Given the description of an element on the screen output the (x, y) to click on. 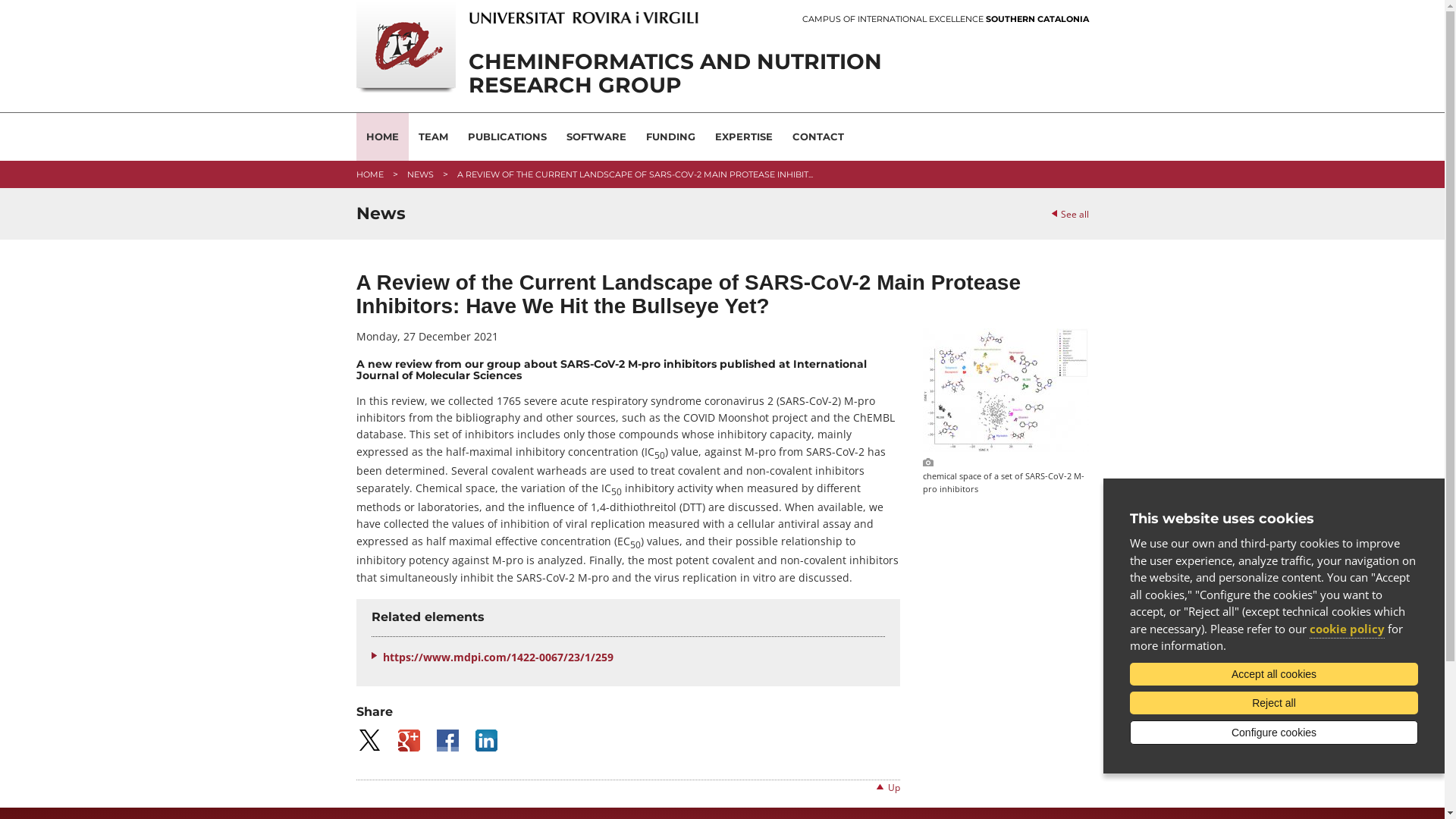
https://www.mdpi.com/1422-0067/23/1/259 Element type: text (633, 657)
FUNDING Element type: text (669, 136)
Reject all Element type: text (1273, 702)
See all Element type: text (1069, 213)
SOFTWARE Element type: text (596, 136)
CHEMINFORMATICS AND NUTRITION RESEARCH GROUP Element type: text (628, 73)
CAMPUS OF INTERNATIONAL EXCELLENCE SOUTHERN CATALONIA Element type: text (945, 19)
TEAM Element type: text (432, 136)
CONTACT Element type: text (817, 136)
HOME Element type: text (369, 174)
EXPERTISE Element type: text (743, 136)
PUBLICATIONS Element type: text (507, 136)
cookie policy Element type: text (1346, 629)
Configure cookies Element type: text (1273, 732)
Accept all cookies Element type: text (1273, 673)
chemical space of a set of SARS-CoV-2 M-pro inhibitors Element type: hover (1005, 447)
HOME Element type: text (382, 136)
NEWS Element type: text (419, 174)
Up Element type: text (893, 787)
